Given the description of an element on the screen output the (x, y) to click on. 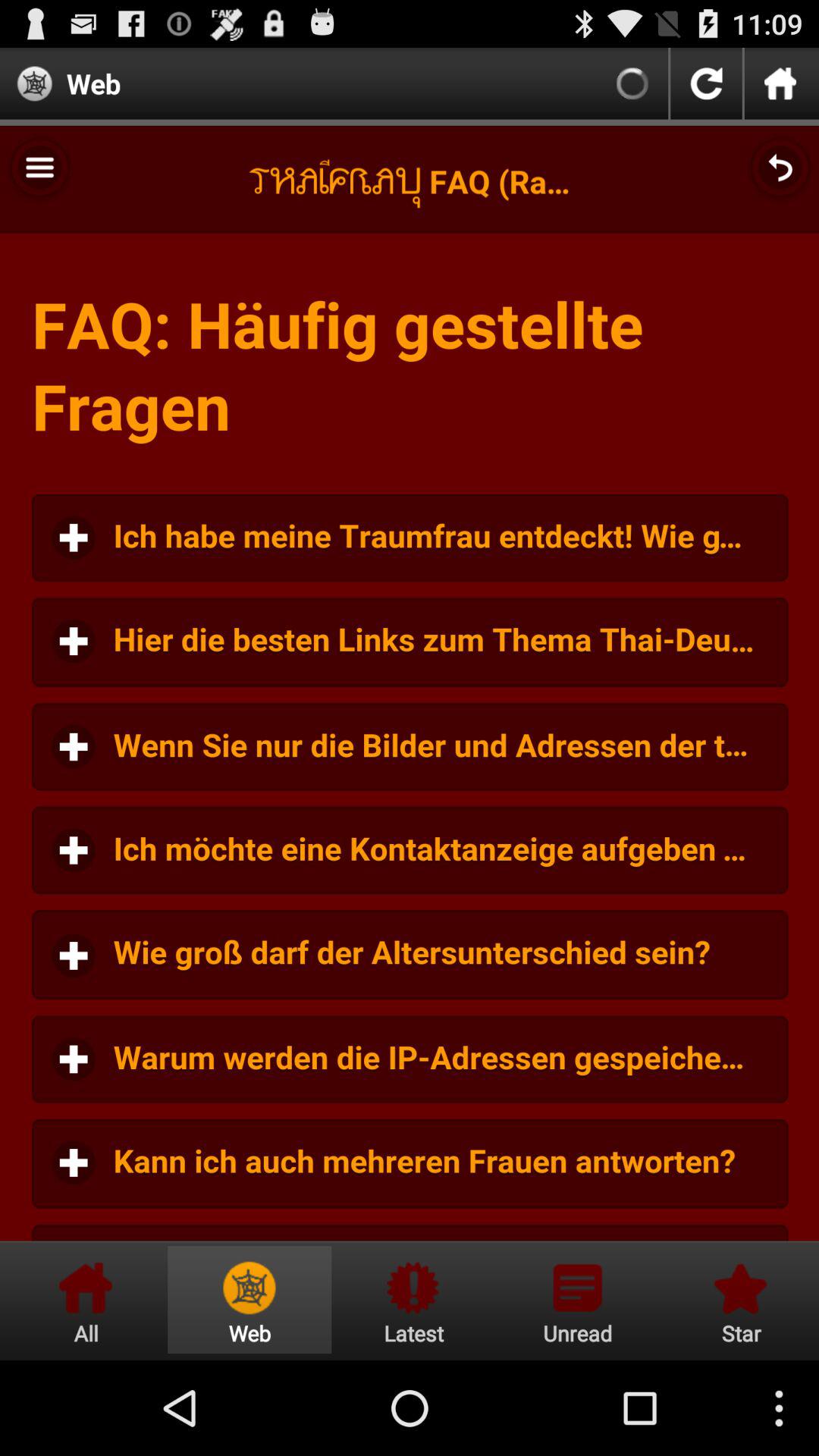
latest (413, 1299)
